Given the description of an element on the screen output the (x, y) to click on. 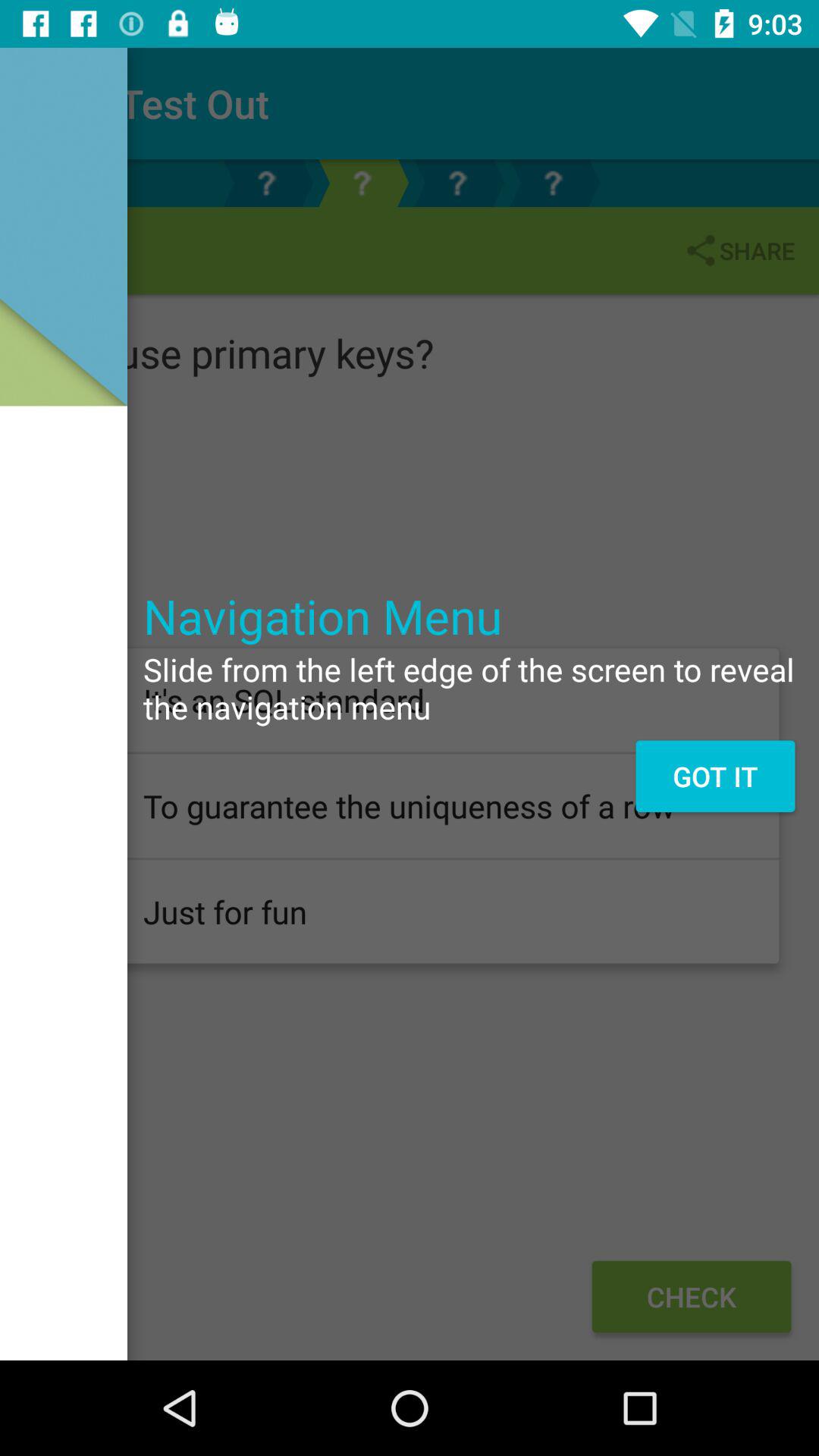
launch the icon below slide from the (715, 776)
